Given the description of an element on the screen output the (x, y) to click on. 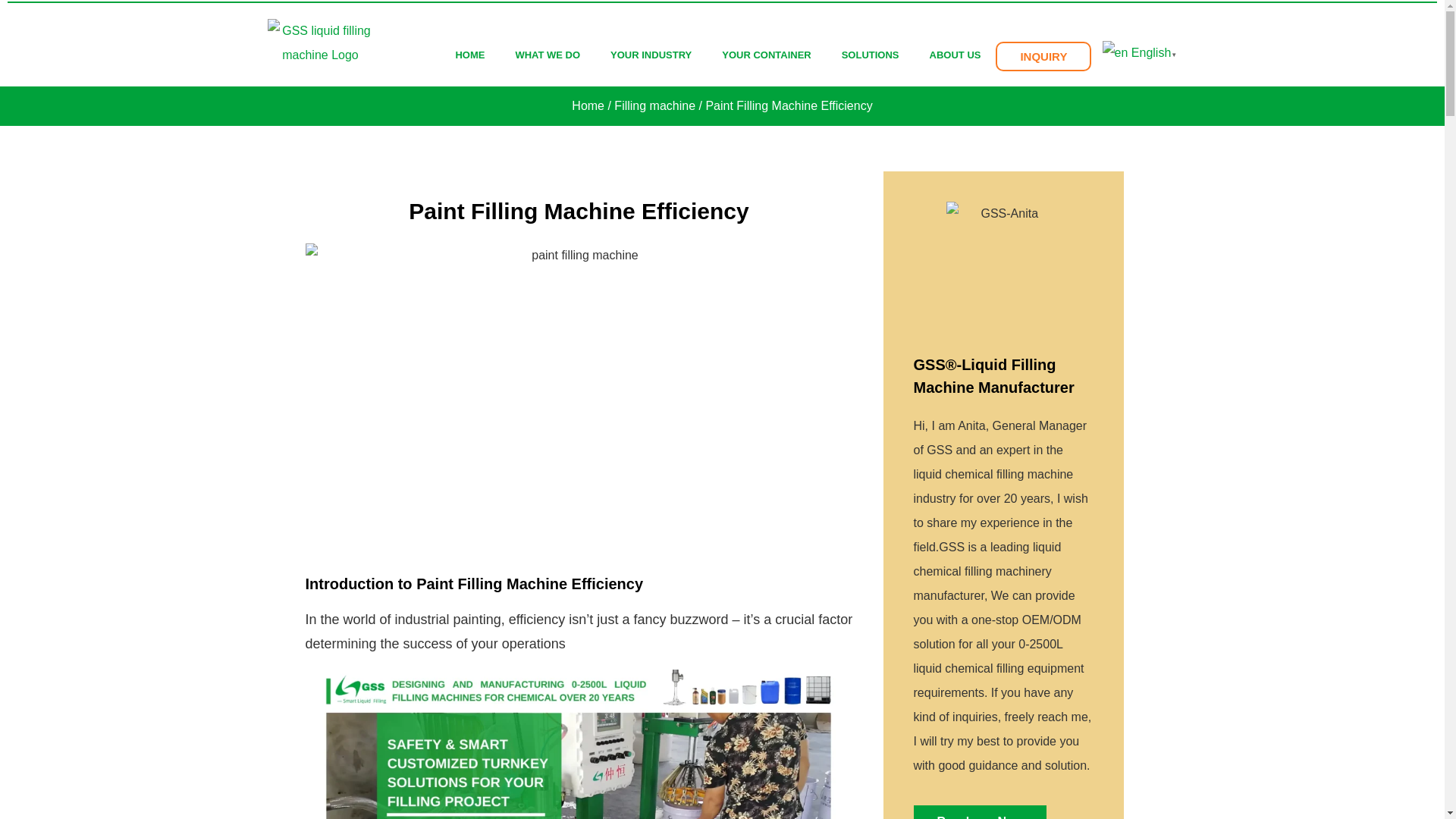
HOME (469, 54)
SOLUTIONS (870, 54)
WHAT WE DO (547, 54)
YOUR CONTAINER (765, 54)
YOUR INDUSTRY (650, 54)
GSS liquid filling machine Logo (319, 42)
ABOUT US (954, 54)
